Given the description of an element on the screen output the (x, y) to click on. 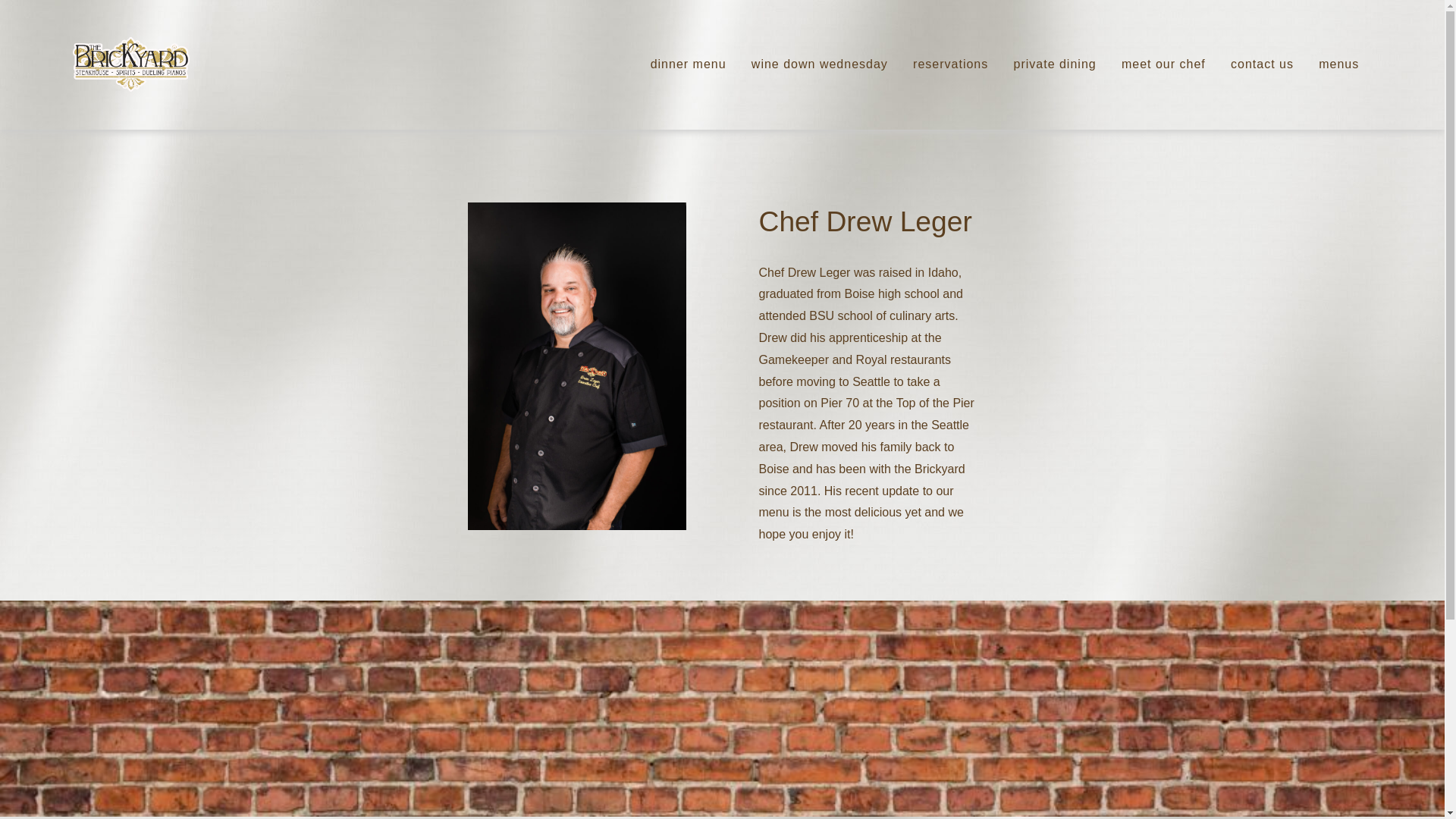
contact us (1262, 65)
meet our chef (1163, 65)
wine down wednesday (819, 65)
dinner menu (688, 65)
private dining (1054, 65)
reservations (950, 65)
menus (1338, 65)
